Given the description of an element on the screen output the (x, y) to click on. 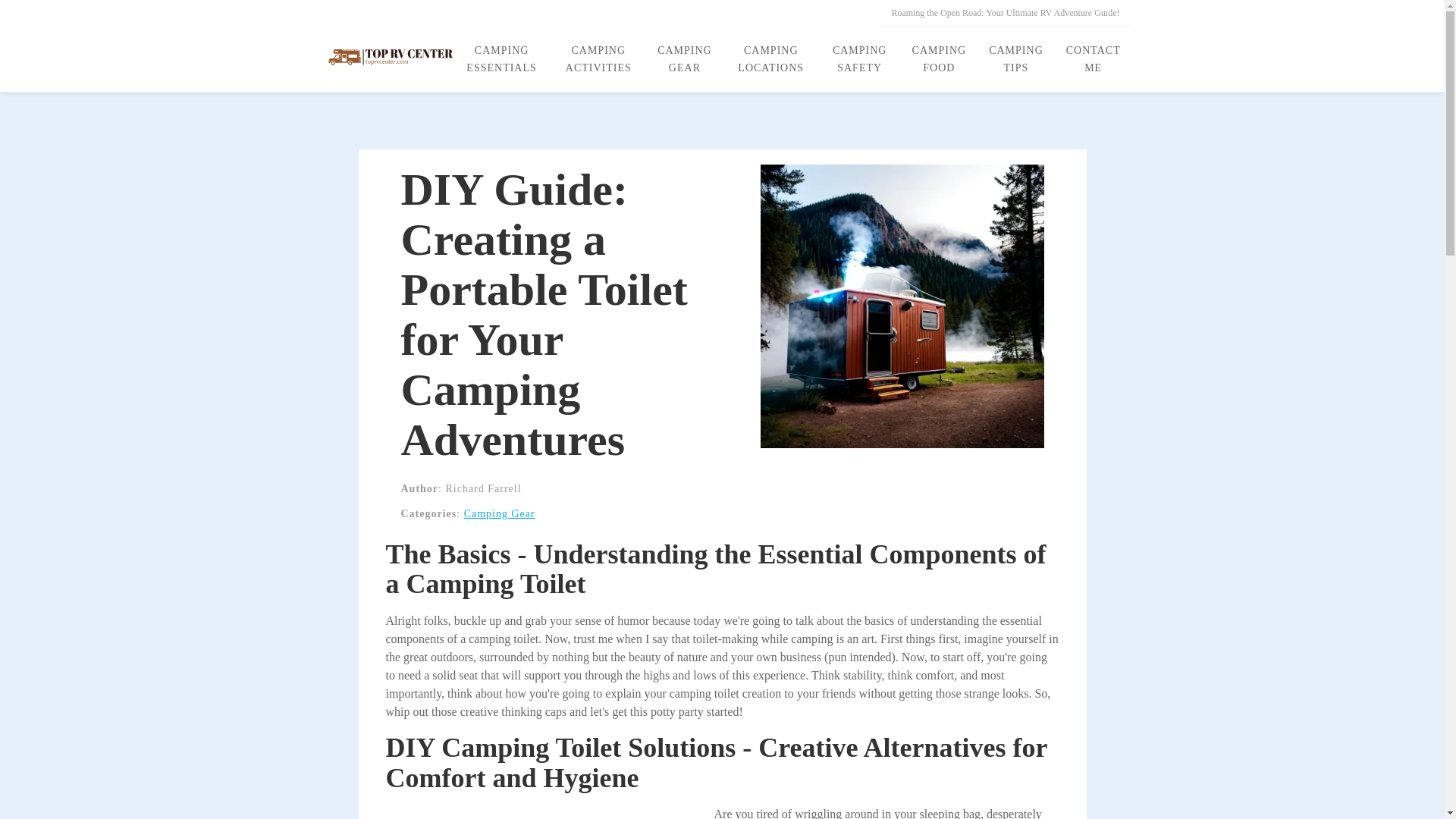
CAMPING FOOD (939, 59)
CAMPING ESSENTIALS (501, 59)
CAMPING ACTIVITIES (598, 59)
CAMPING LOCATIONS (770, 59)
Camping Gear (499, 513)
CAMPING GEAR (684, 59)
CAMPING TIPS (1015, 59)
CONTACT ME (1093, 59)
CAMPING SAFETY (859, 59)
